Given the description of an element on the screen output the (x, y) to click on. 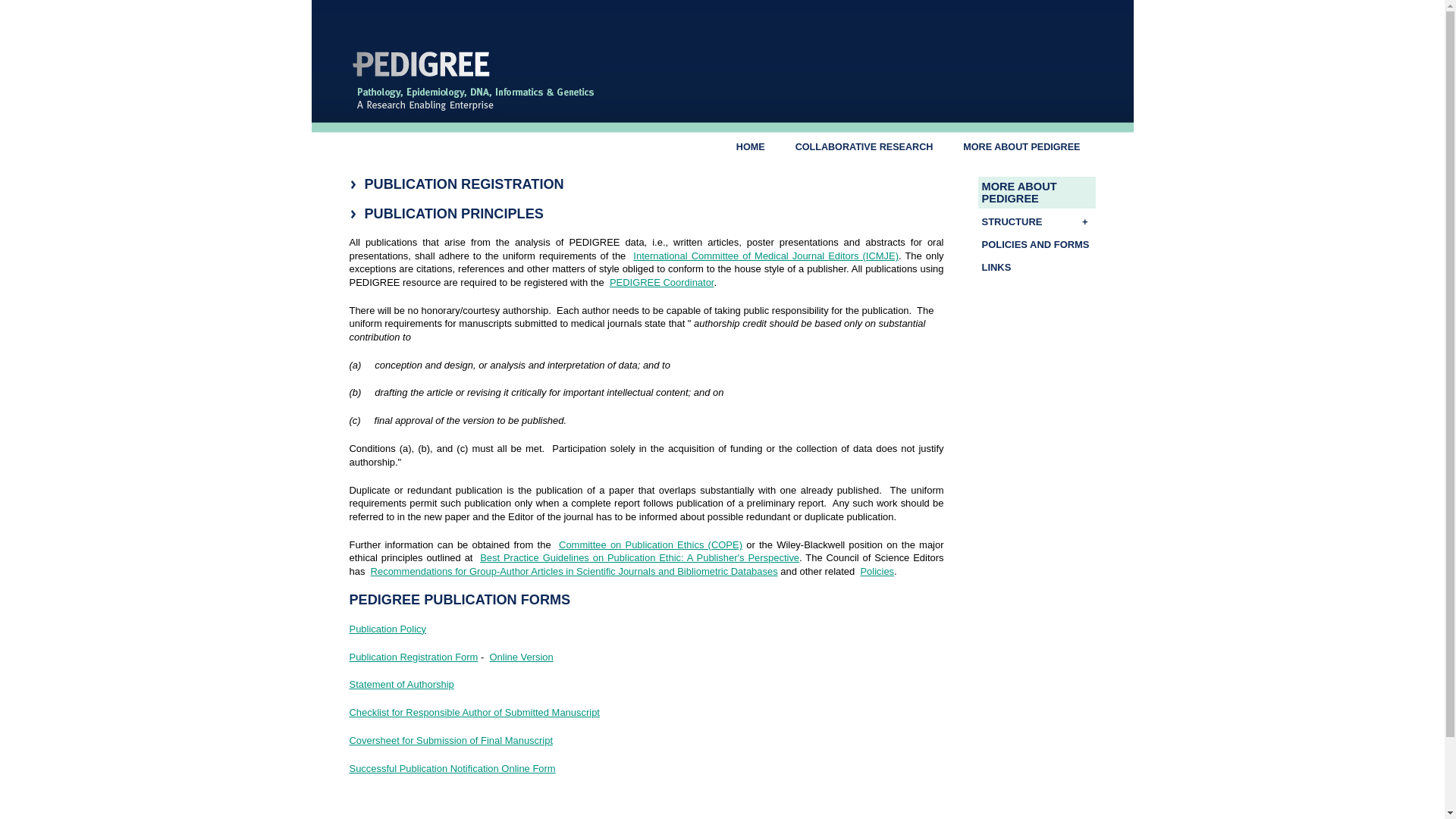
LINKS Element type: text (1036, 266)
Publication Registration Form Element type: text (412, 656)
STRUCTURE
+ Element type: text (1036, 221)
Checklist for Responsible Author of Submitted Manuscript Element type: text (473, 712)
Online Version Element type: text (521, 656)
MORE ABOUT PEDIGREE Element type: text (1021, 146)
COLLABORATIVE RESEARCH Element type: text (864, 146)
MORE ABOUT PEDIGREE Element type: text (1036, 192)
Policies Element type: text (876, 571)
POLICIES AND FORMS Element type: text (1036, 244)
Coversheet for Submission of Final Manuscript Element type: text (450, 740)
Successful Publication Notification Online Form Element type: text (451, 768)
PEDIGREE Coordinator Element type: text (661, 282)
Statement of Authorship Element type: text (400, 684)
Publication Policy Element type: text (387, 628)
HOME Element type: text (750, 146)
International Committee of Medical Journal Editors (ICMJE) Element type: text (765, 255)
Committee on Publication Ethics (COPE) Element type: text (650, 544)
Return to the home page Element type: hover (473, 109)
